Given the description of an element on the screen output the (x, y) to click on. 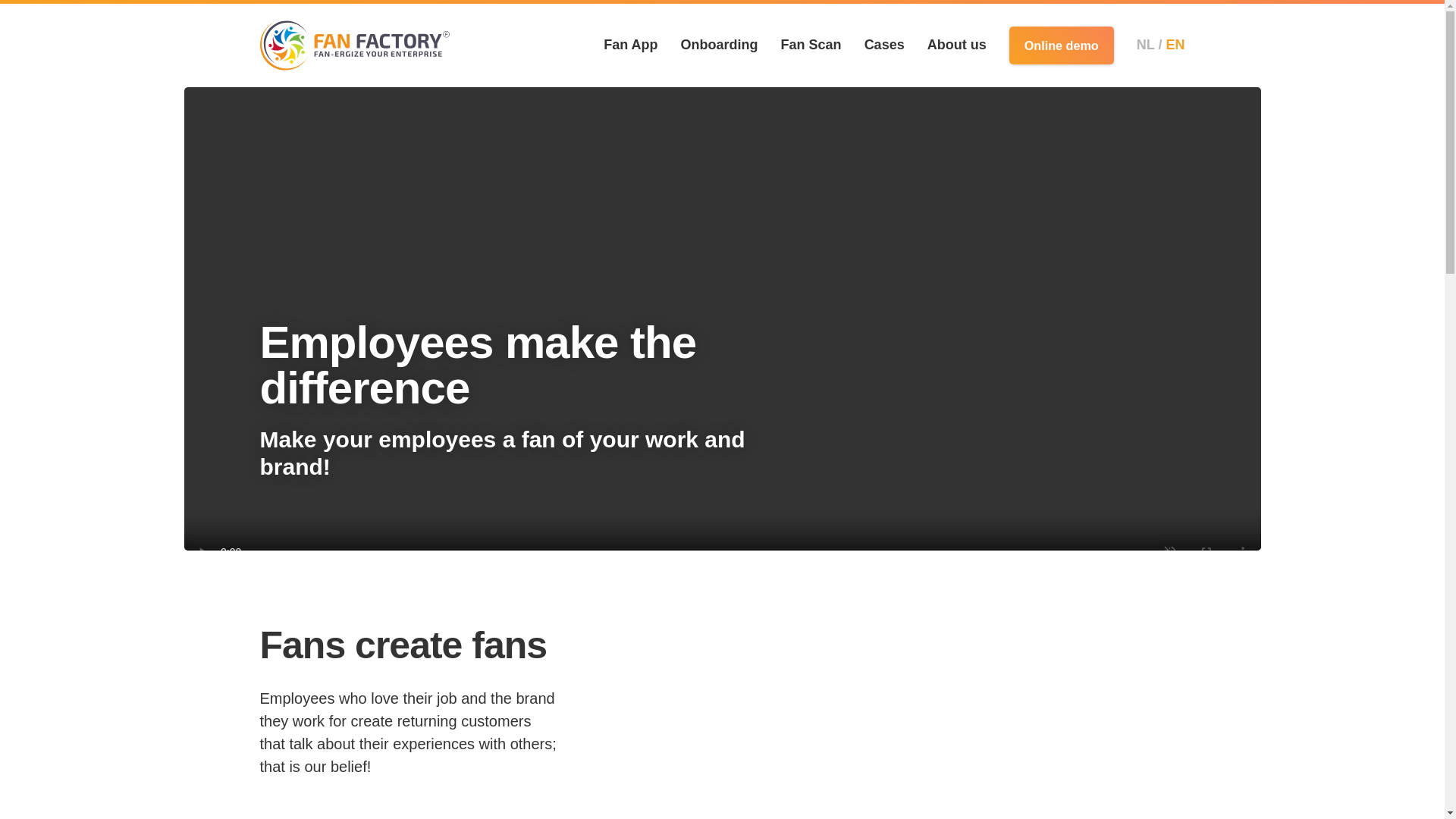
Fan Factory (353, 45)
Online demo (1061, 45)
EN (1175, 44)
Fan Factory (353, 45)
Fan App (631, 44)
Fan Scan (810, 44)
Cases (884, 44)
About us (957, 44)
Onboarding (719, 44)
NL (1149, 44)
